Given the description of an element on the screen output the (x, y) to click on. 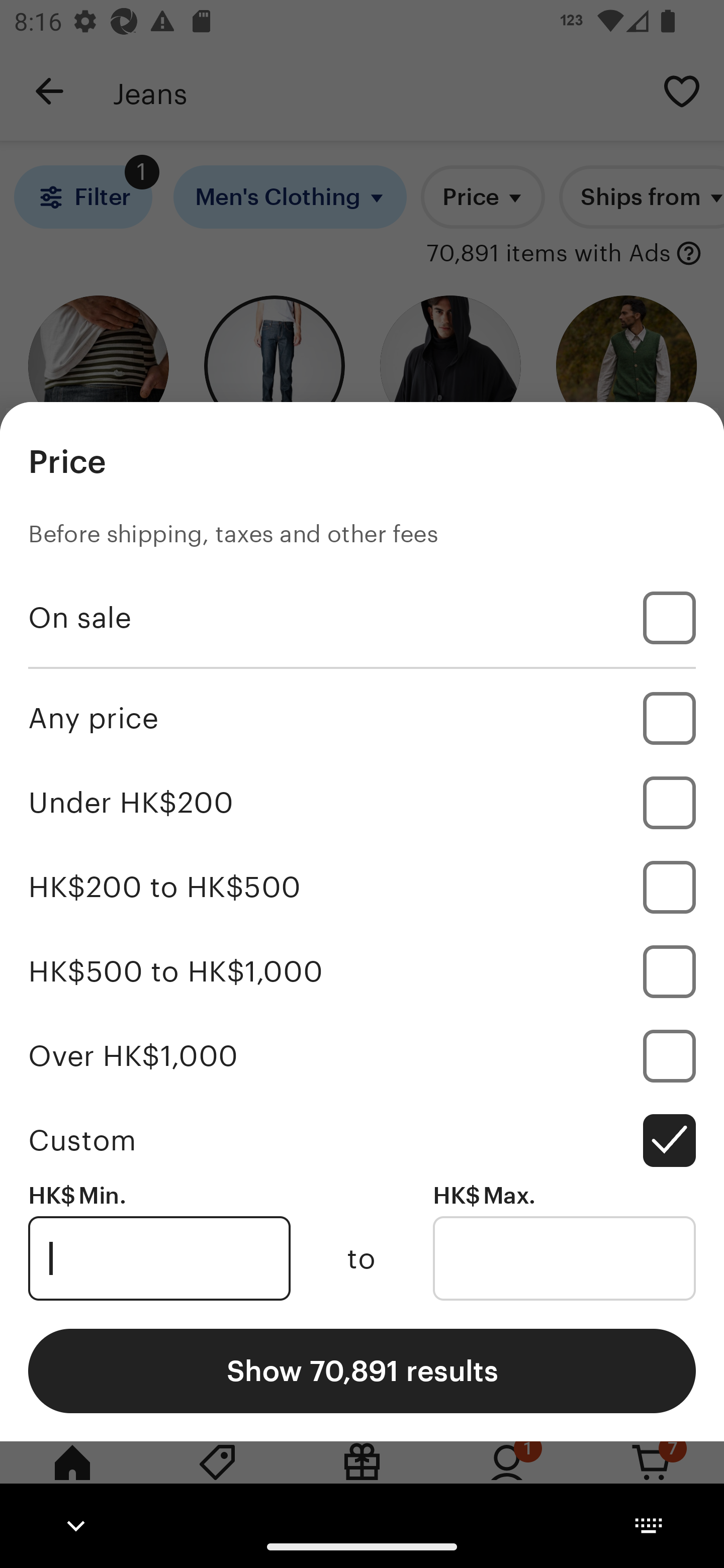
On sale (362, 617)
Any price (362, 717)
Under HK$200 (362, 802)
HK$200 to HK$500 (362, 887)
HK$500 to HK$1,000 (362, 970)
Over HK$1,000 (362, 1054)
Custom (362, 1139)
Show 70,891 results (361, 1370)
